Given the description of an element on the screen output the (x, y) to click on. 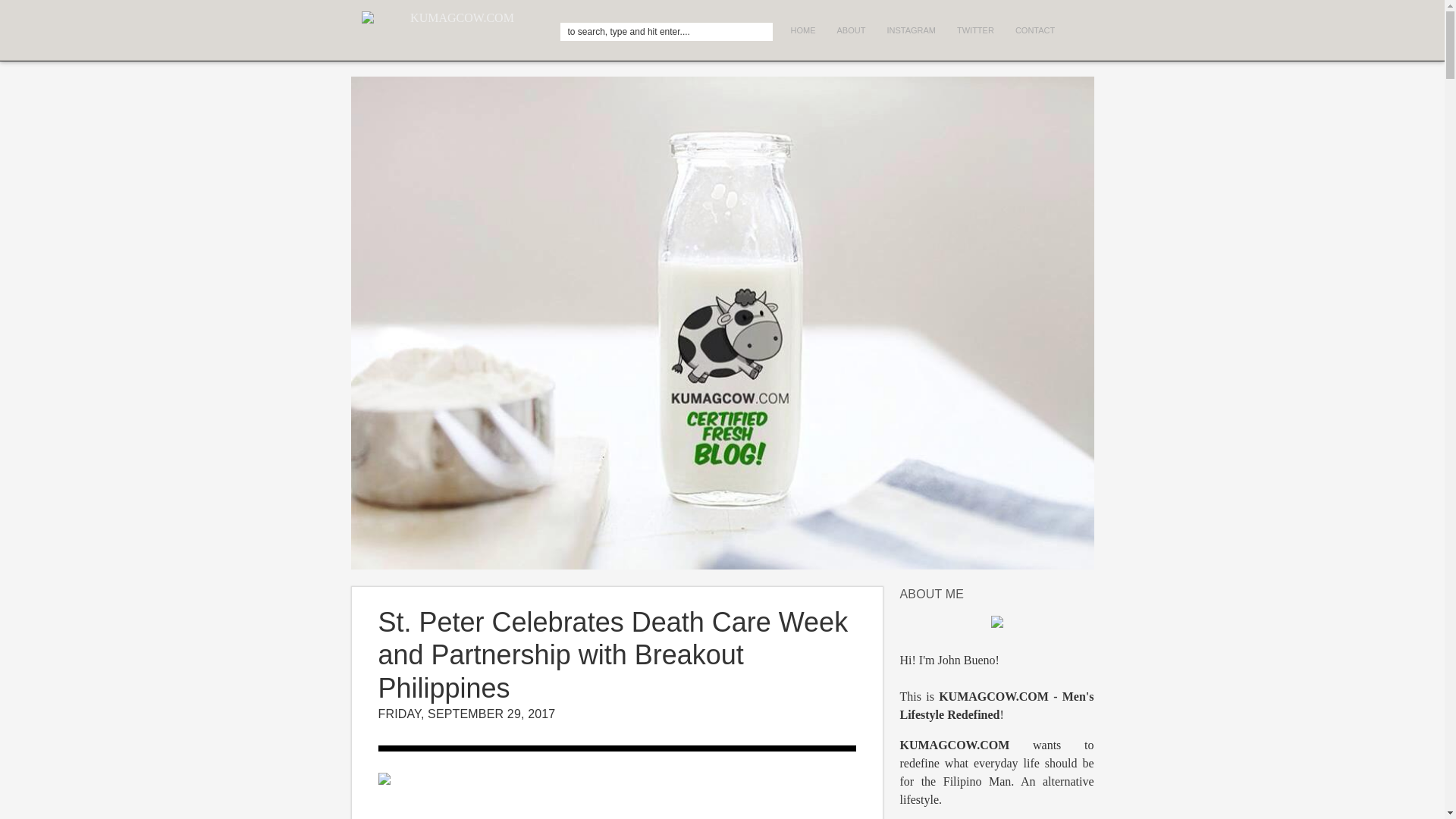
CONTACT (1034, 30)
ABOUT (851, 30)
INSTAGRAM (911, 30)
to search, type and hit enter.... (665, 31)
TWITTER (975, 30)
HOME (801, 30)
